Given the description of an element on the screen output the (x, y) to click on. 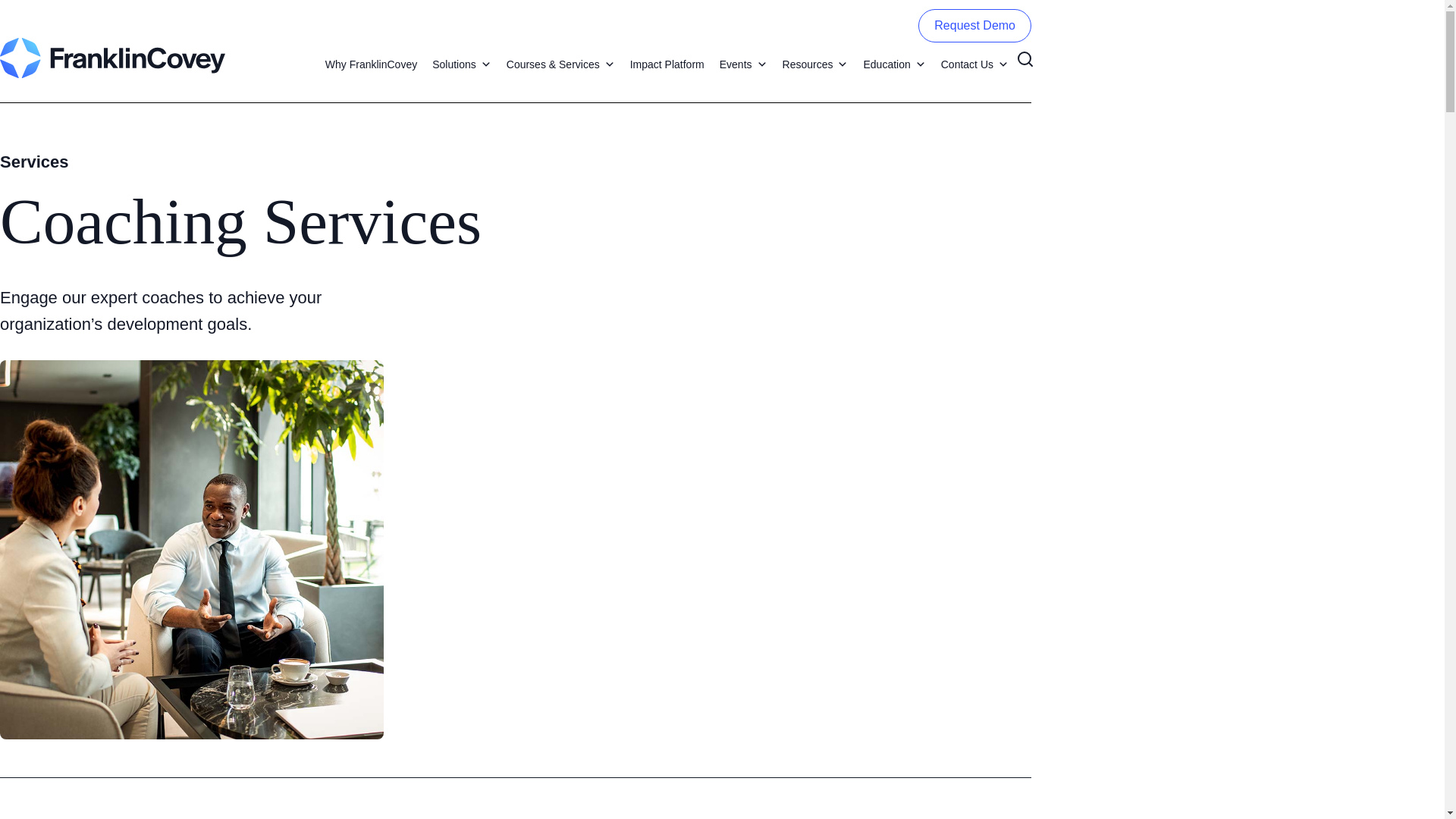
Why FranklinCovey (371, 64)
Solutions (462, 64)
